Given the description of an element on the screen output the (x, y) to click on. 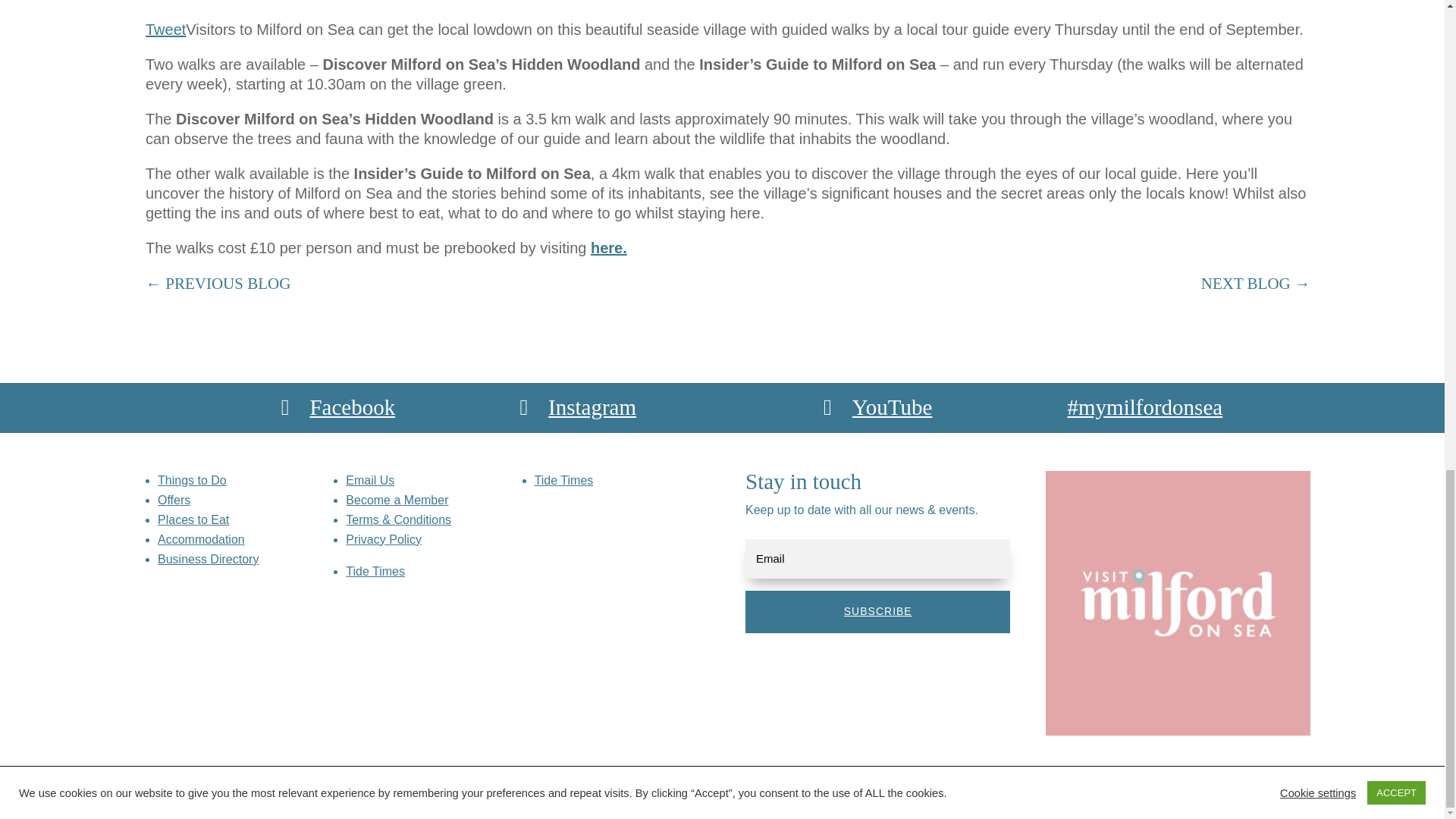
Visit Milford on Sea Logo Pink (1177, 602)
